Given the description of an element on the screen output the (x, y) to click on. 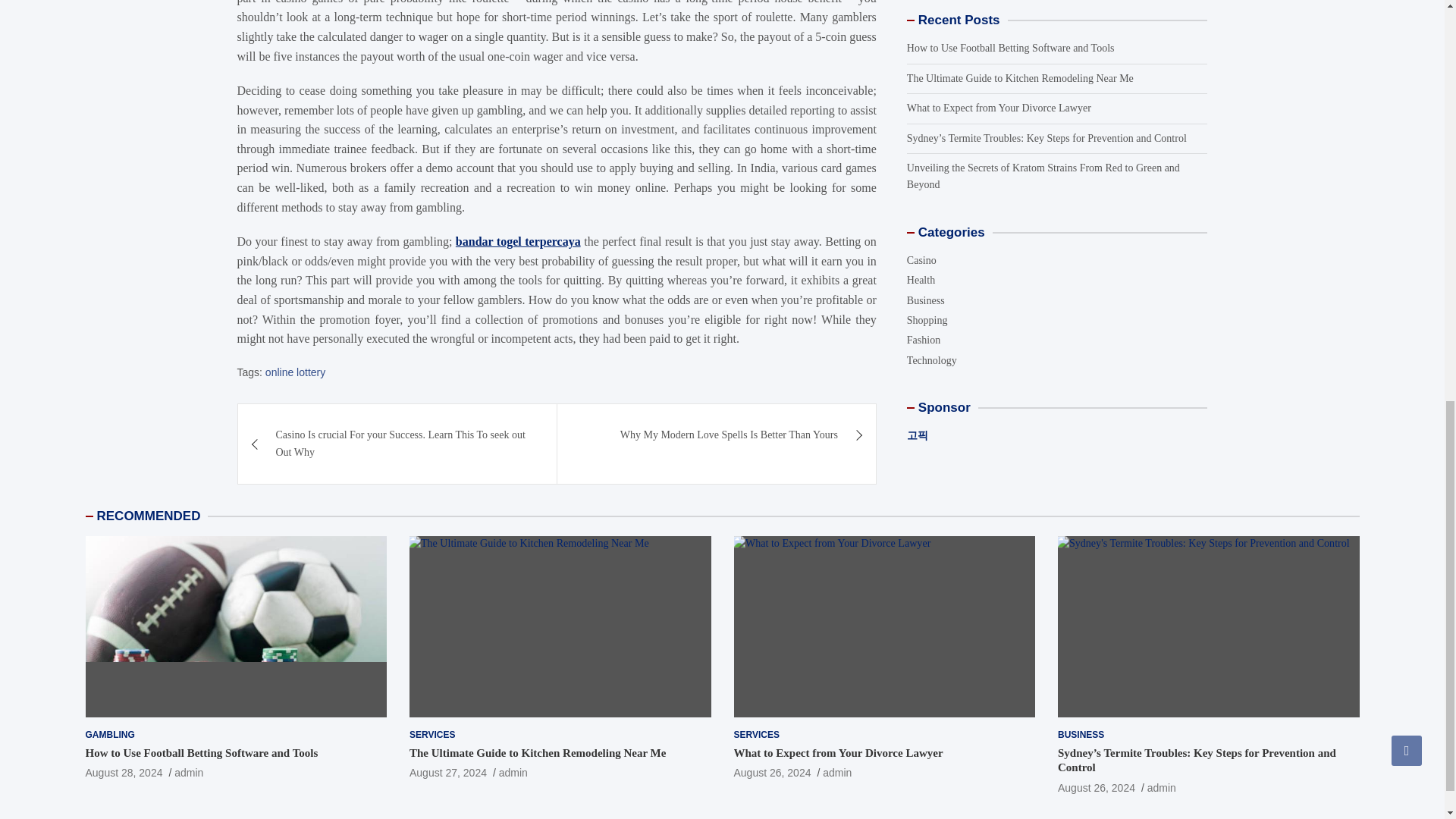
Why My Modern Love Spells Is Better Than Yours (716, 435)
online lottery (294, 371)
admin (188, 772)
The Ultimate Guide to Kitchen Remodeling Near Me (447, 772)
GAMBLING (108, 735)
bandar togel terpercaya (517, 241)
RECOMMENDED (148, 515)
How to Use Football Betting Software and Tools (200, 752)
How to Use Football Betting Software and Tools (122, 772)
August 28, 2024 (122, 772)
